Given the description of an element on the screen output the (x, y) to click on. 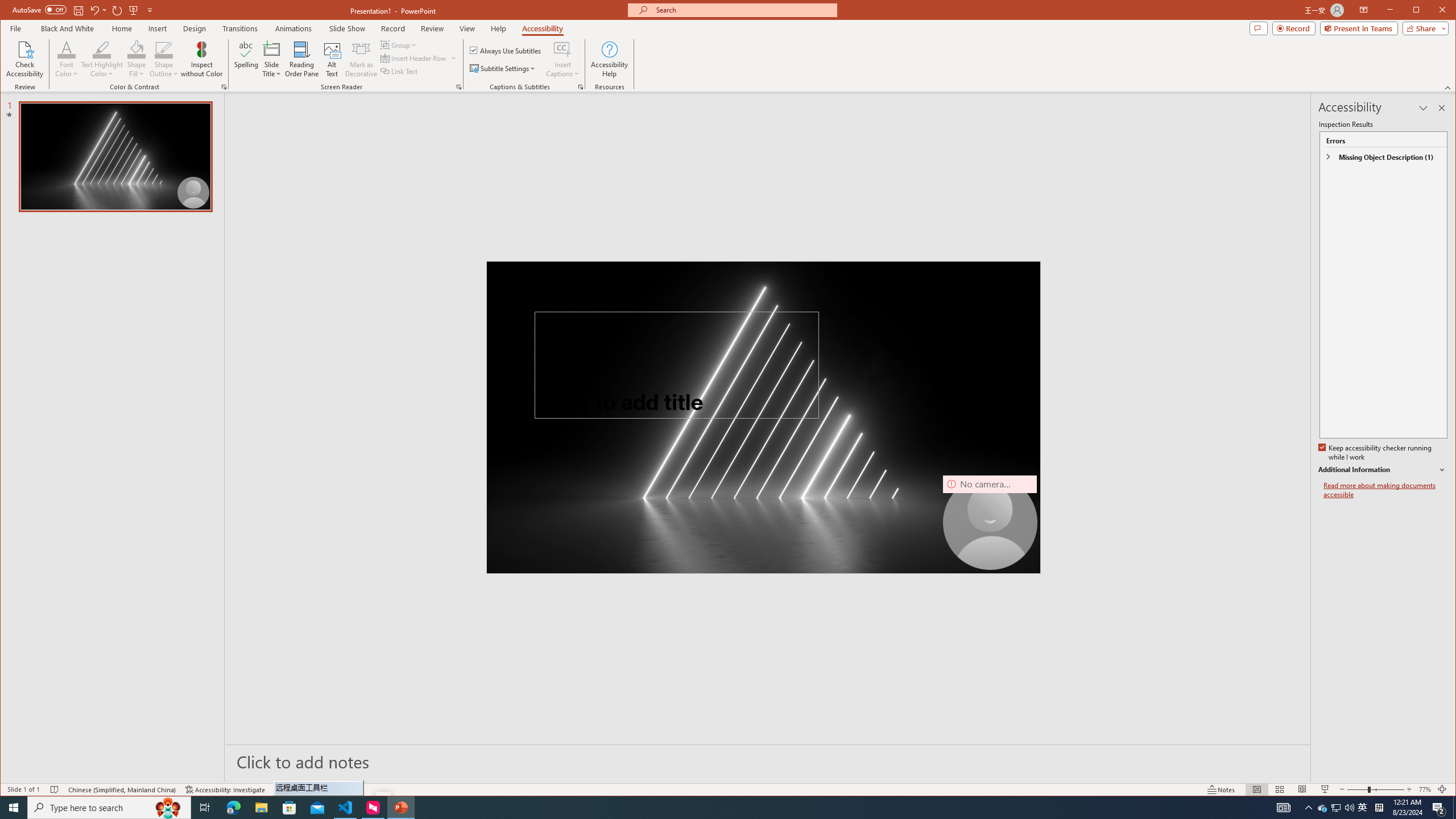
Insert Header Row (413, 57)
Spelling... (246, 59)
Subtitle Settings (502, 68)
